Given the description of an element on the screen output the (x, y) to click on. 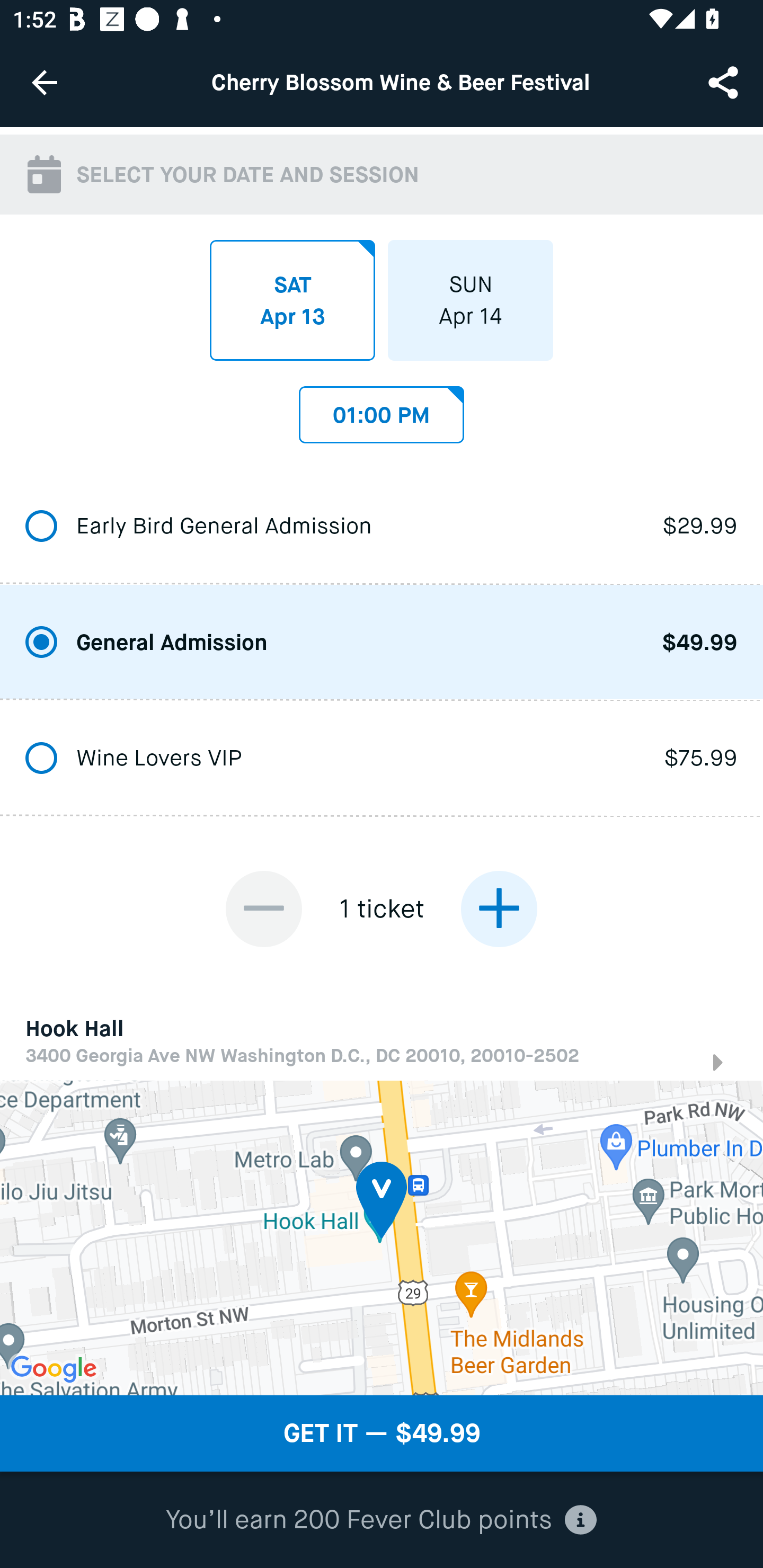
Navigate up (44, 82)
Share (724, 81)
SAT
Apr 13 (292, 299)
SUN
Apr 14 (470, 299)
01:00 PM (381, 409)
Early Bird General Admission $29.99 (381, 526)
General Admission $49.99 (381, 642)
Wine Lovers VIP $75.99 (381, 758)
decrease (263, 908)
increase (498, 908)
Google Map Map Marker (381, 1237)
GET IT — $49.99 (381, 1433)
You’ll earn 200 Fever Club points (380, 1519)
